Given the description of an element on the screen output the (x, y) to click on. 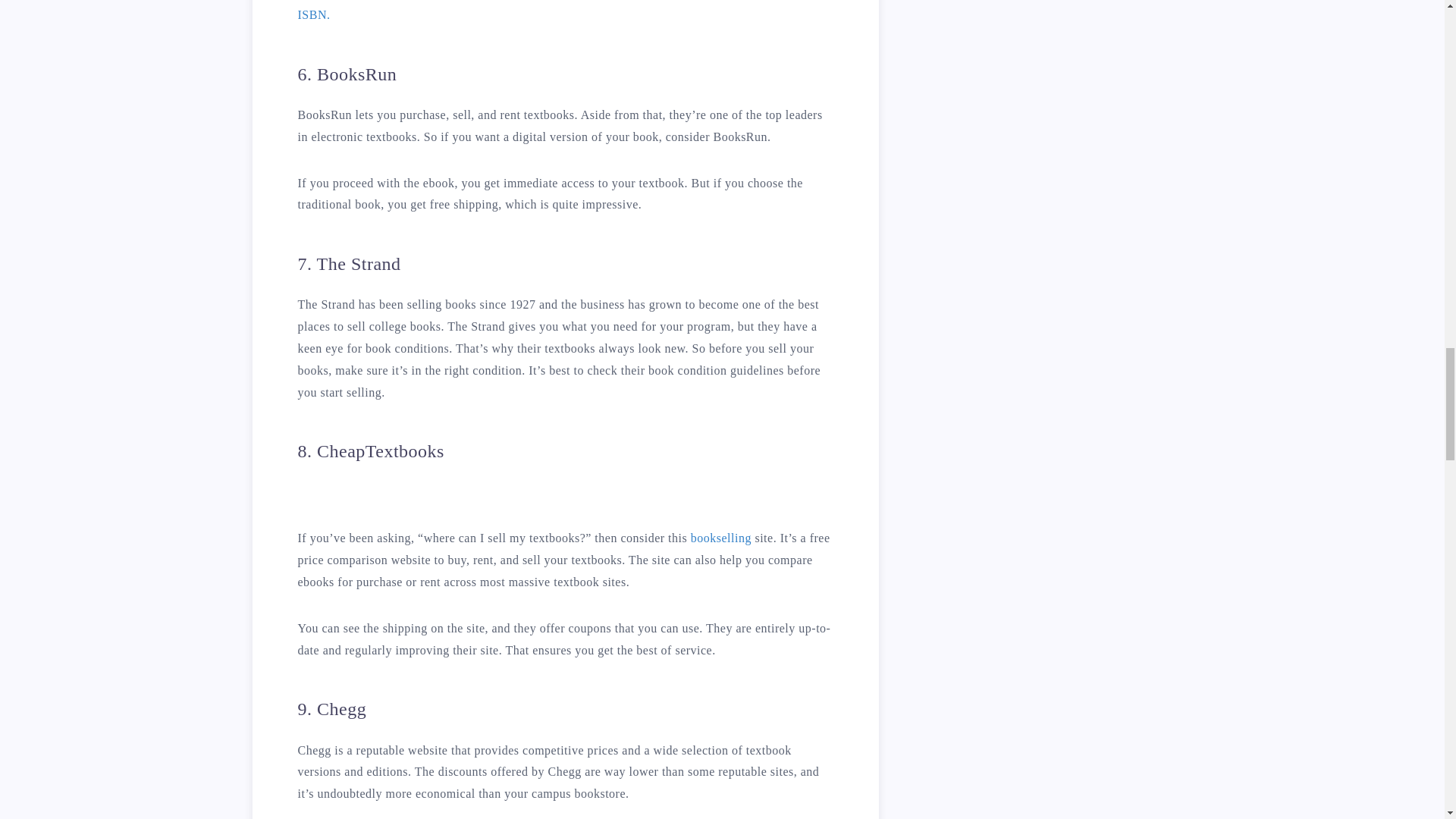
bookselling (720, 537)
